Given the description of an element on the screen output the (x, y) to click on. 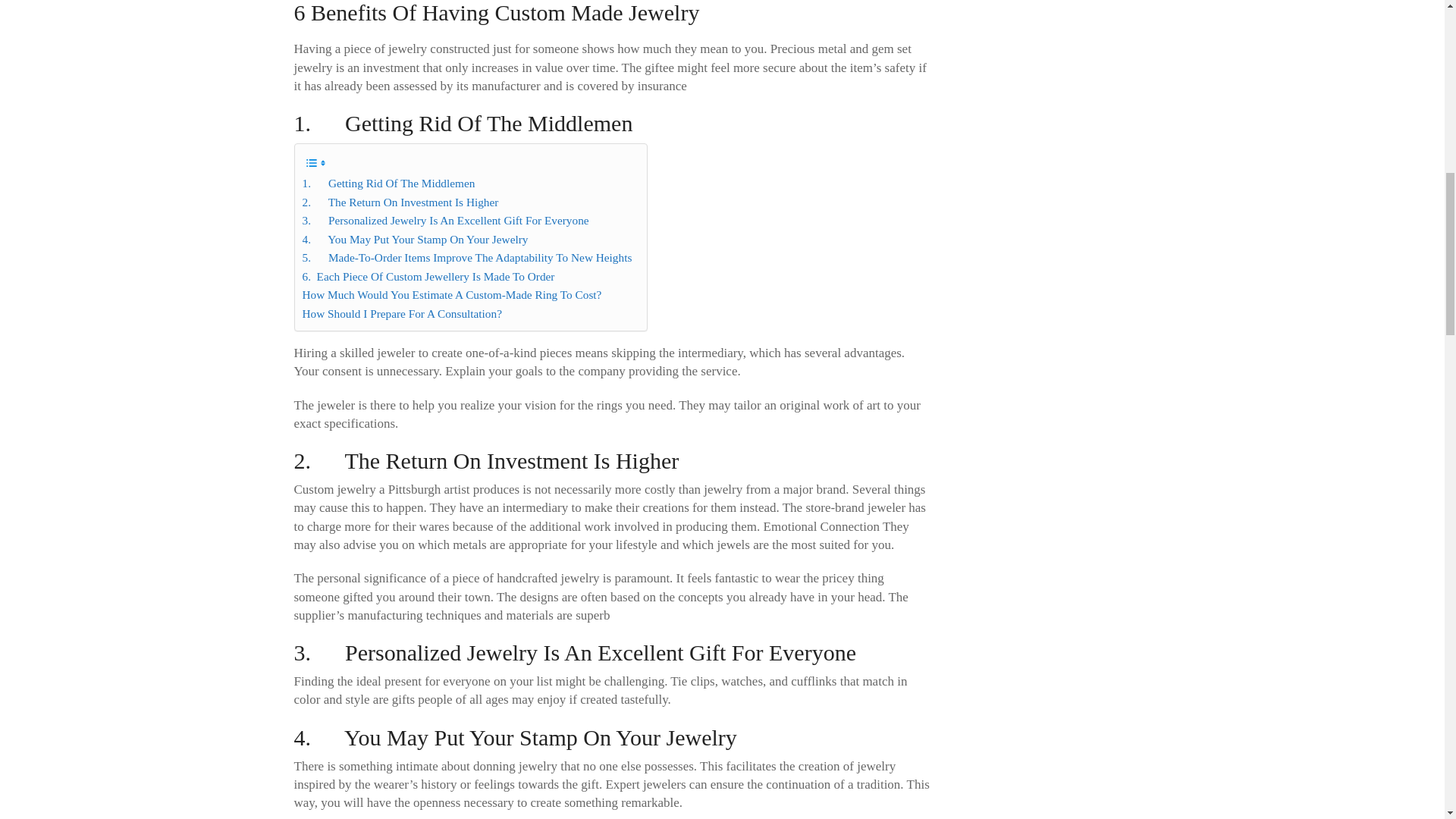
1.      Getting Rid Of The Middlemen (387, 183)
How Should I Prepare For A Consultation? (400, 313)
How Much Would You Estimate A Custom-Made Ring To Cost? (451, 294)
2.      The Return On Investment Is Higher (399, 202)
4.      You May Put Your Stamp On Your Jewelry (414, 239)
How Should I Prepare For A Consultation? (400, 313)
How Much Would You Estimate A Custom-Made Ring To Cost? (451, 294)
